Given the description of an element on the screen output the (x, y) to click on. 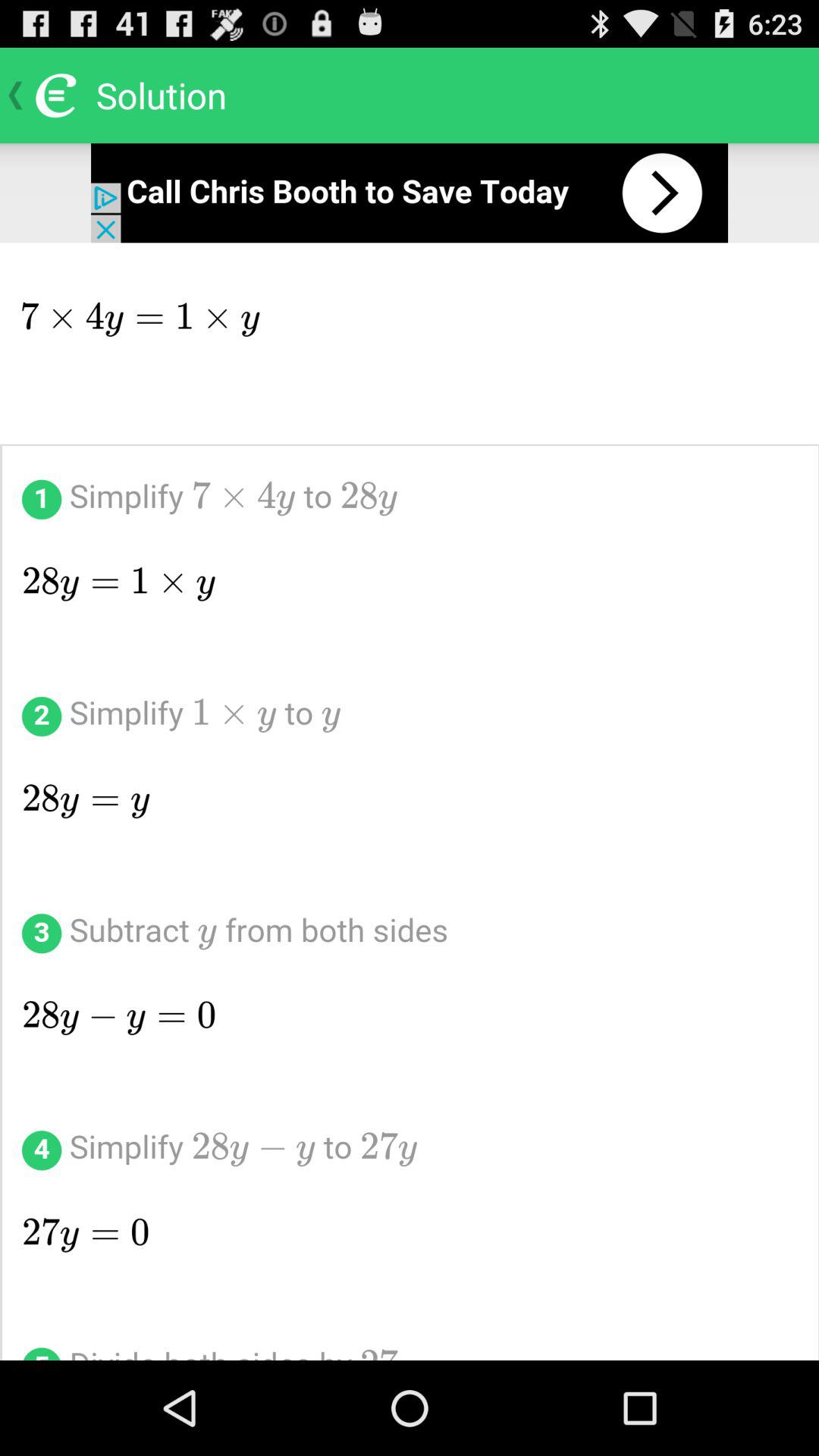
show math equations (409, 801)
